Given the description of an element on the screen output the (x, y) to click on. 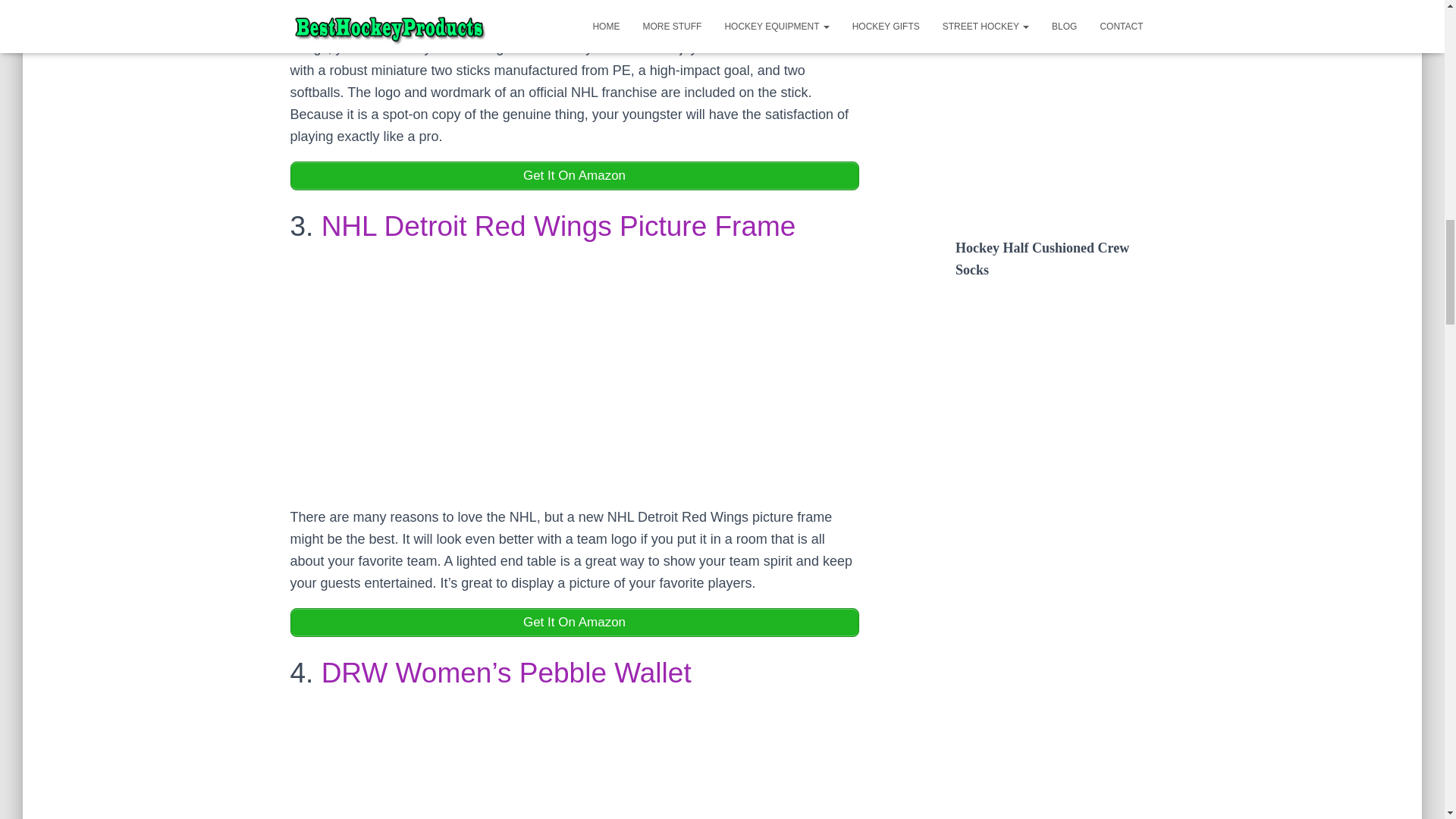
Get It On Amazon (574, 175)
mini hockey stick set (536, 25)
